Given the description of an element on the screen output the (x, y) to click on. 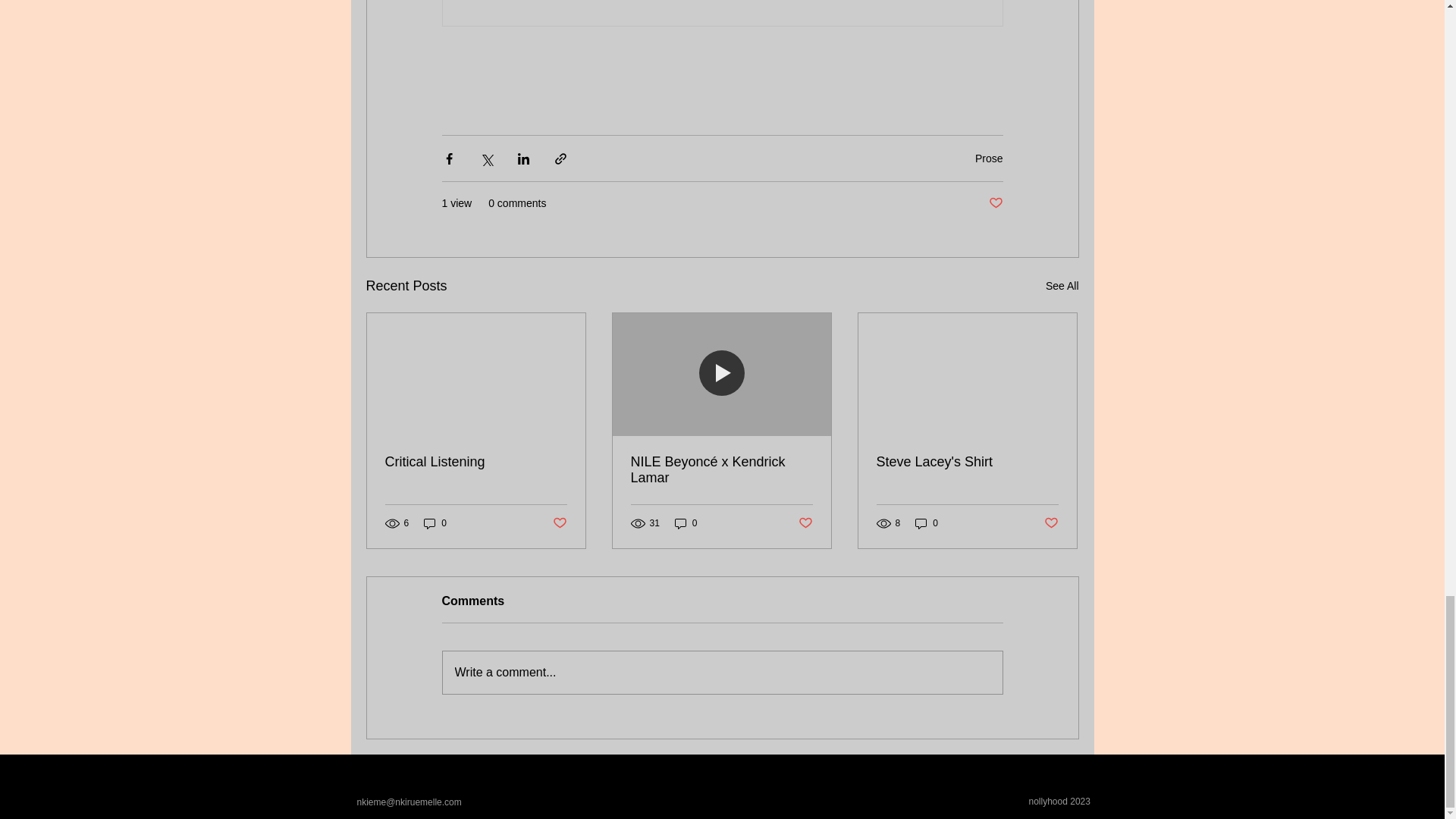
Post not marked as liked (804, 523)
Critical Listening (476, 462)
0 (685, 523)
Post not marked as liked (558, 523)
Post not marked as liked (1050, 523)
See All (1061, 286)
Steve Lacey's Shirt (967, 462)
0 (435, 523)
Prose (989, 158)
0 (926, 523)
Write a comment... (722, 672)
Post not marked as liked (995, 203)
